Given the description of an element on the screen output the (x, y) to click on. 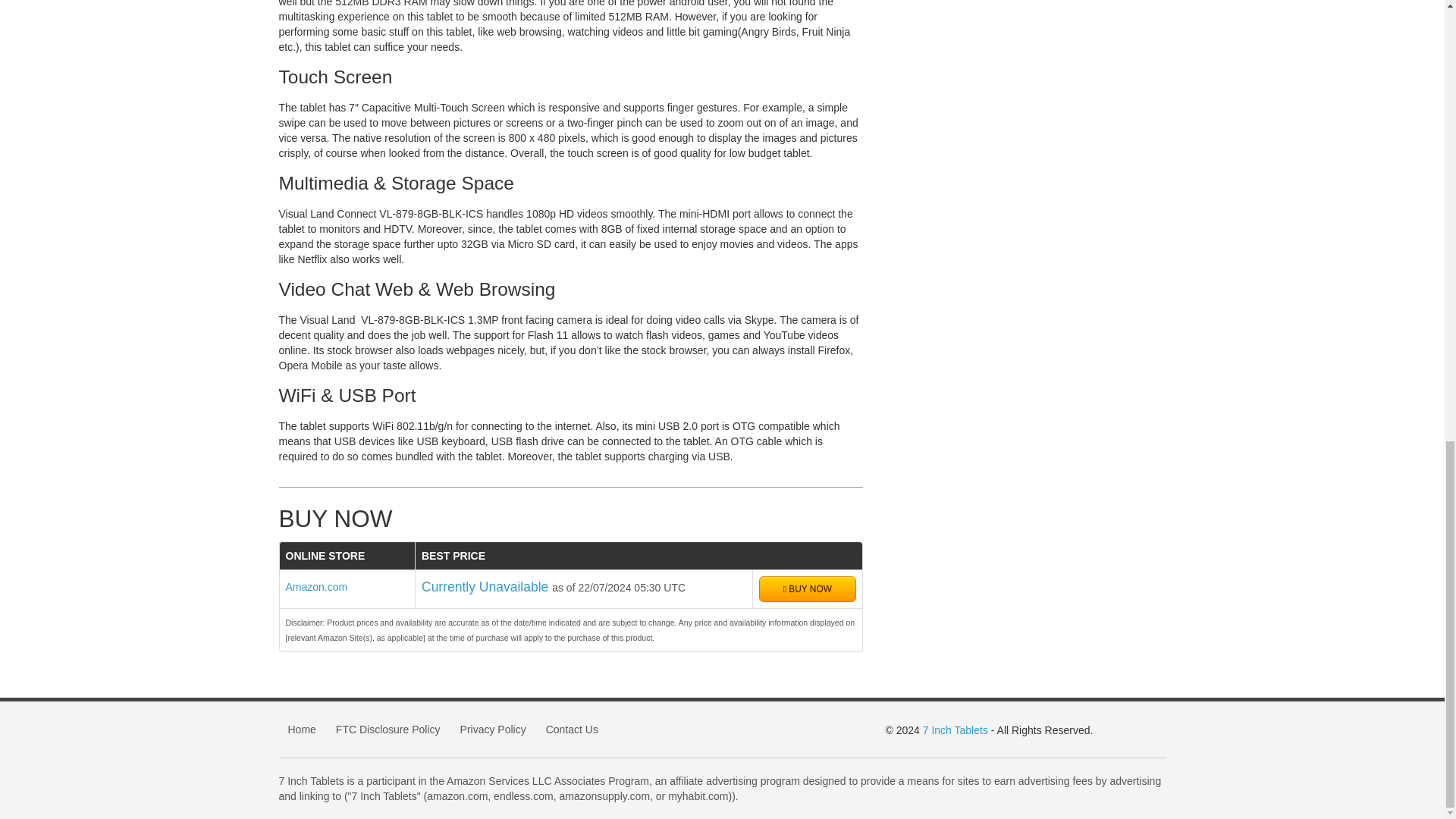
BUY NOW (807, 588)
FTC Disclosure Policy (387, 729)
7 Inch Tablets (955, 729)
Amazon.com (316, 586)
Privacy Policy (493, 729)
7 Inch Tablets (955, 729)
Contact Us (572, 729)
Home (301, 729)
Currently Unavailable (486, 586)
